Given the description of an element on the screen output the (x, y) to click on. 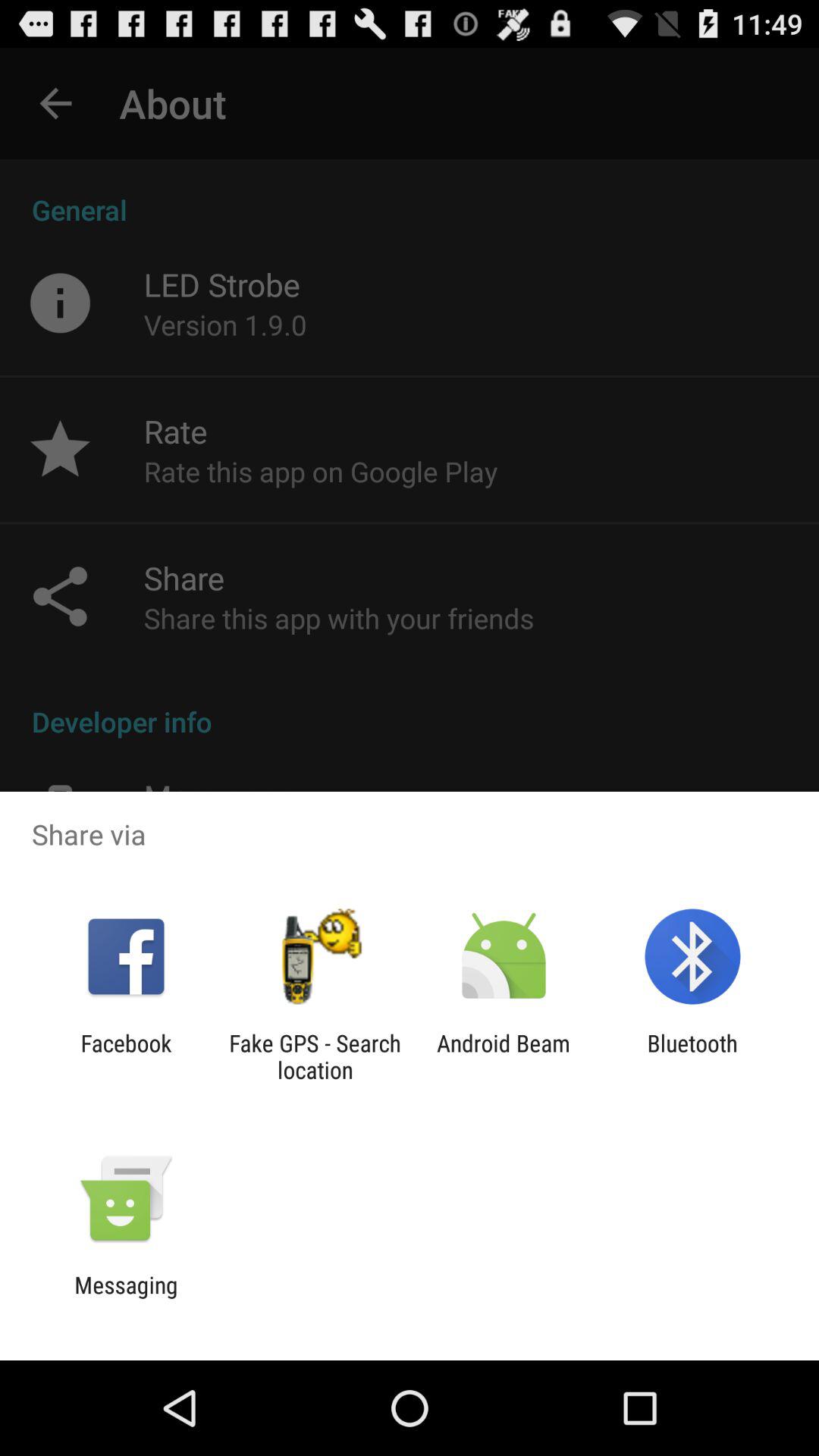
press app to the left of fake gps search icon (125, 1056)
